Given the description of an element on the screen output the (x, y) to click on. 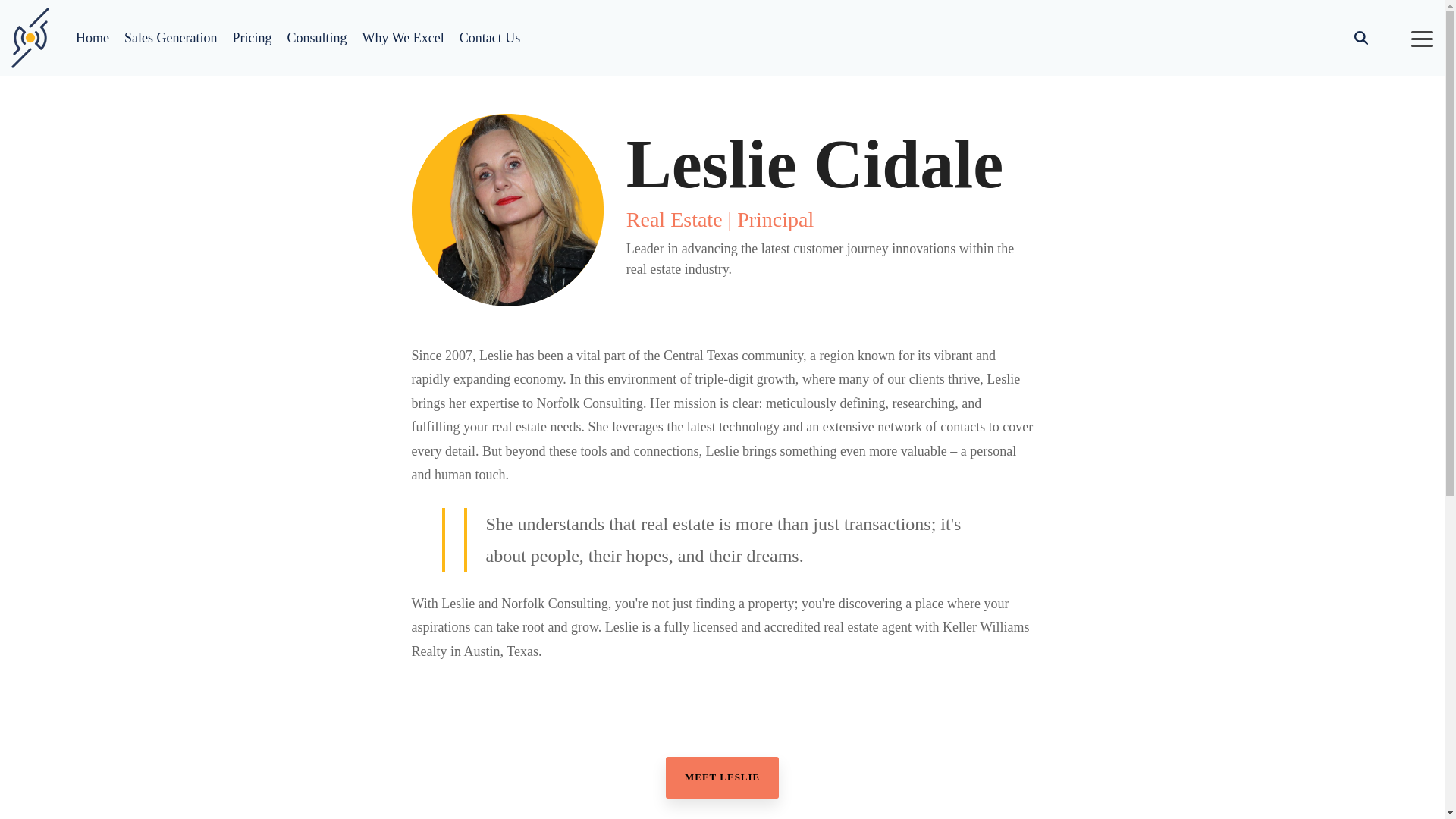
Contact Us (490, 37)
Pricing (250, 37)
Sales Generation (169, 37)
Toggle Menu (1421, 38)
Consulting (316, 37)
Why We Excel (402, 37)
MEET LESLIE (721, 777)
Home (92, 37)
